Given the description of an element on the screen output the (x, y) to click on. 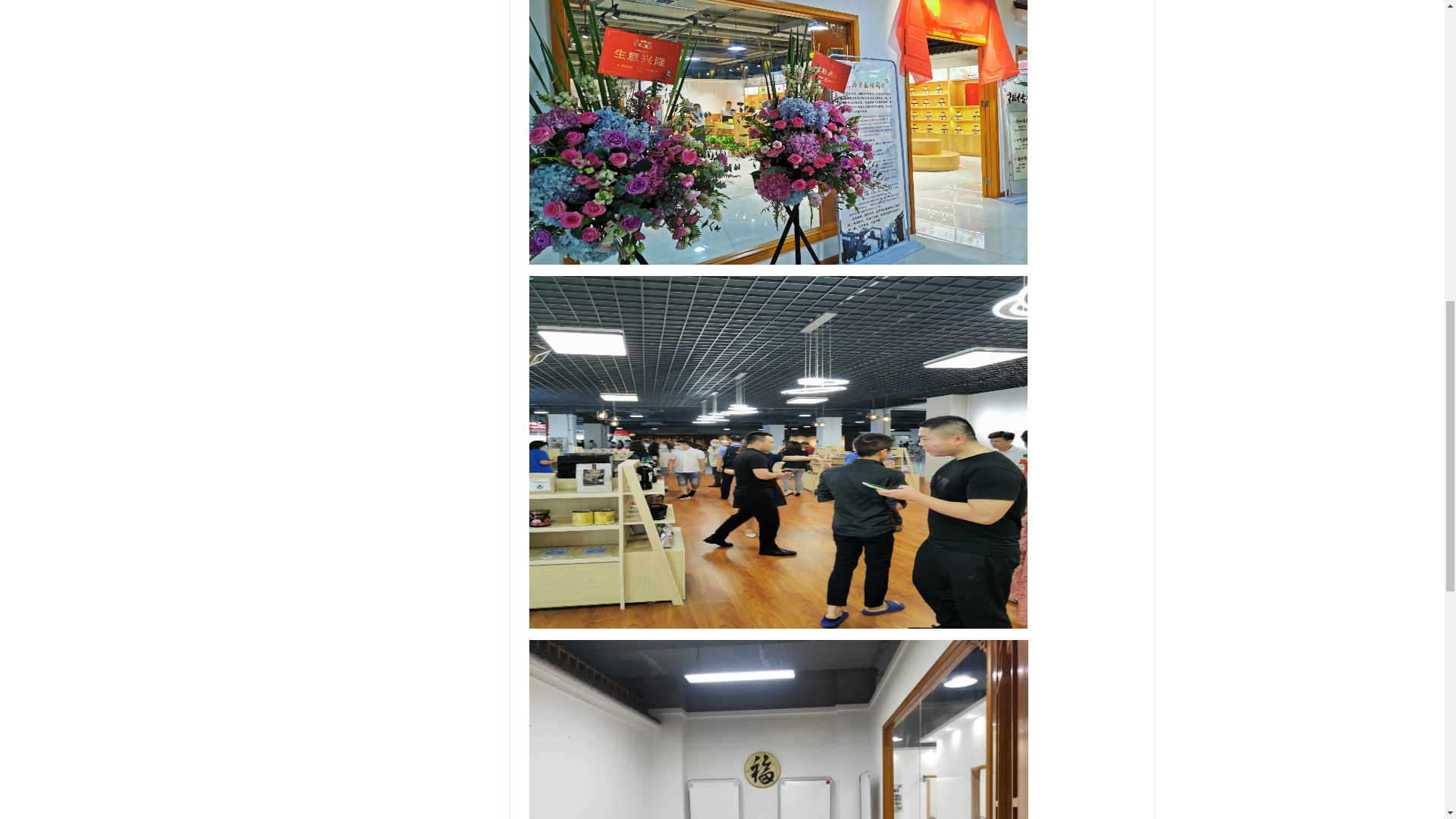
1599496727139238.jpg (778, 729)
1599497603523294.jpg (778, 132)
